Given the description of an element on the screen output the (x, y) to click on. 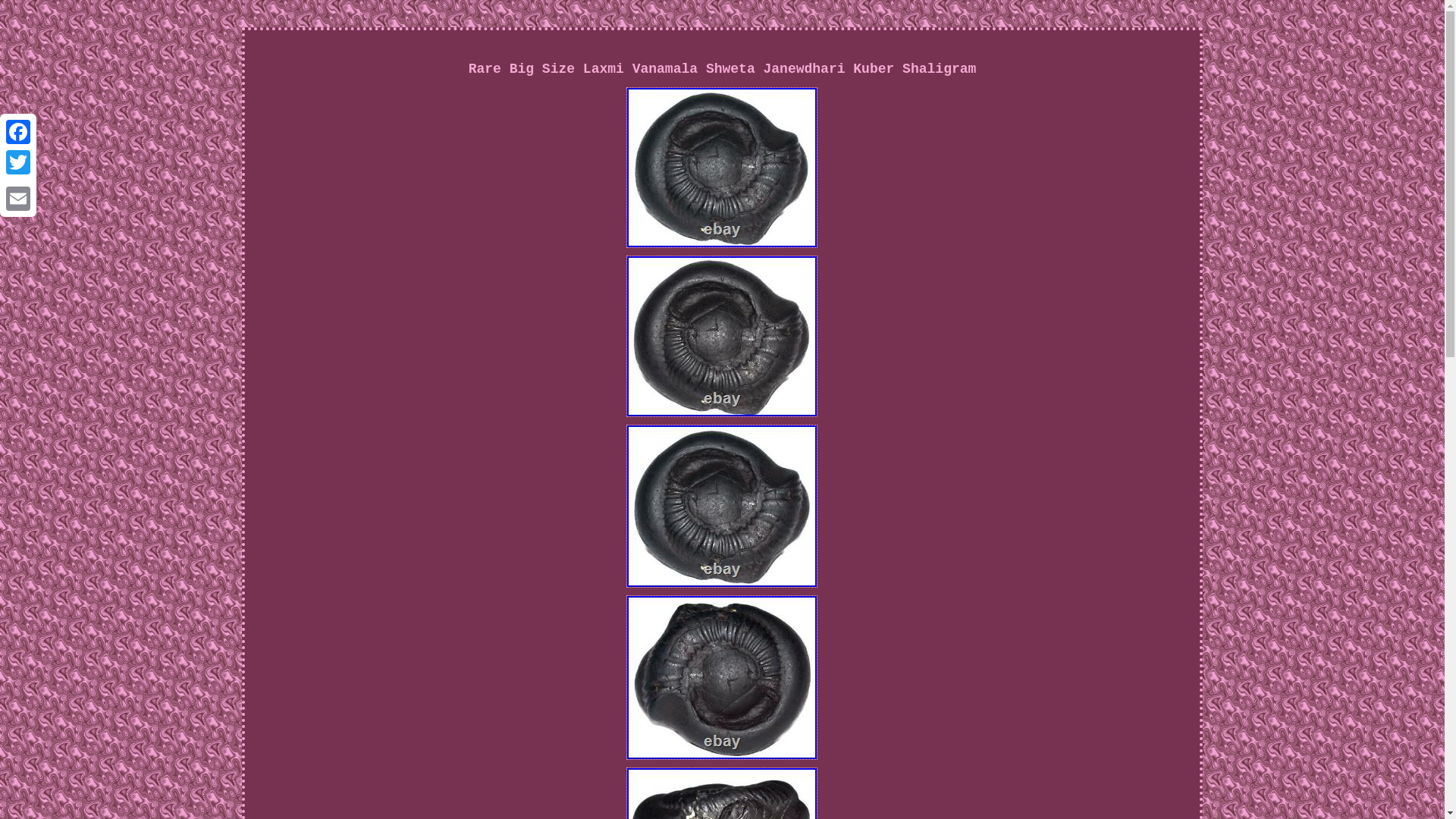
Twitter (17, 162)
Facebook (17, 132)
Email (17, 198)
